Given the description of an element on the screen output the (x, y) to click on. 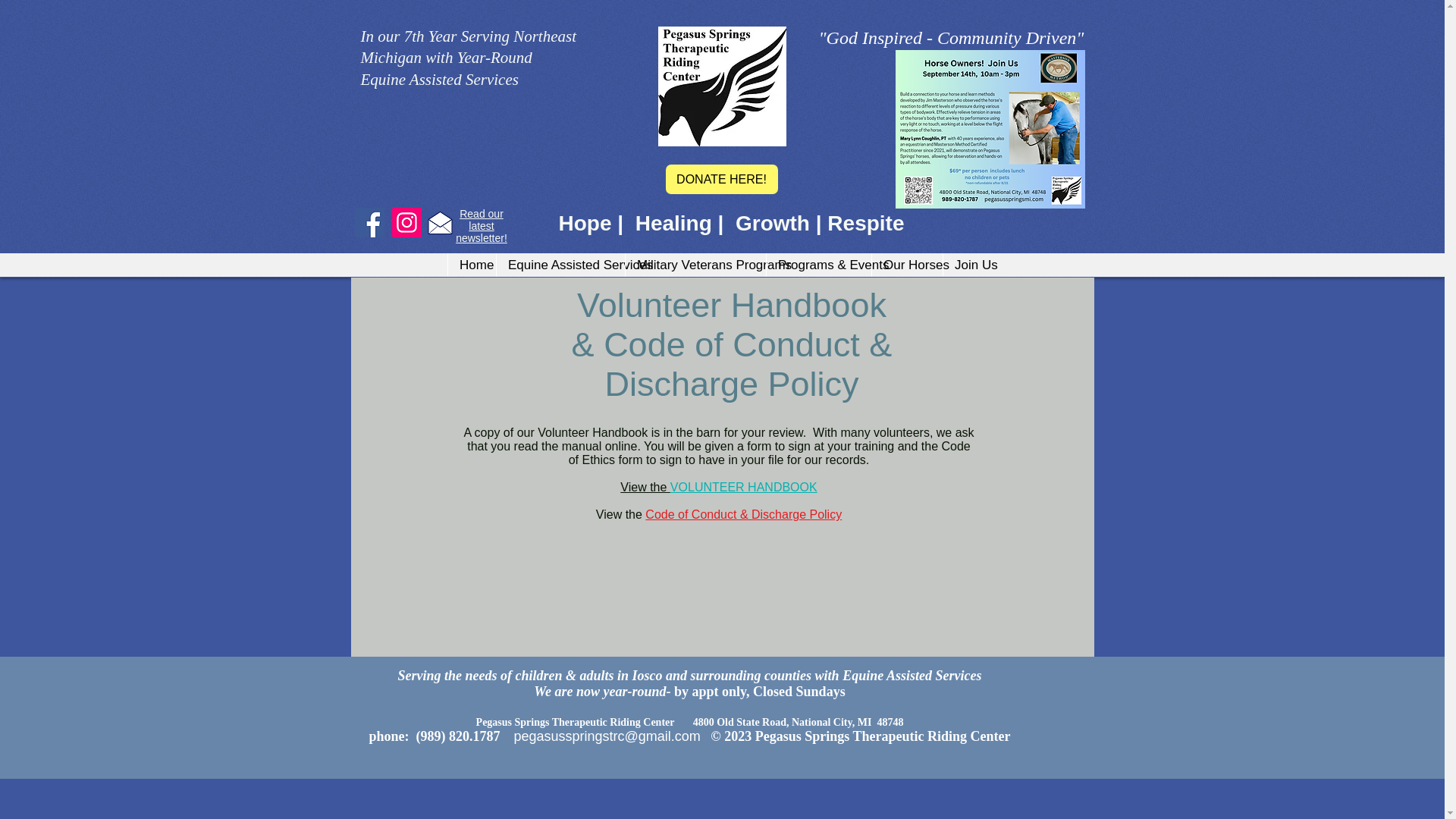
View the VOLUNTEER HANDBOOK (718, 486)
Home (471, 264)
DONATE HERE! (721, 179)
